Given the description of an element on the screen output the (x, y) to click on. 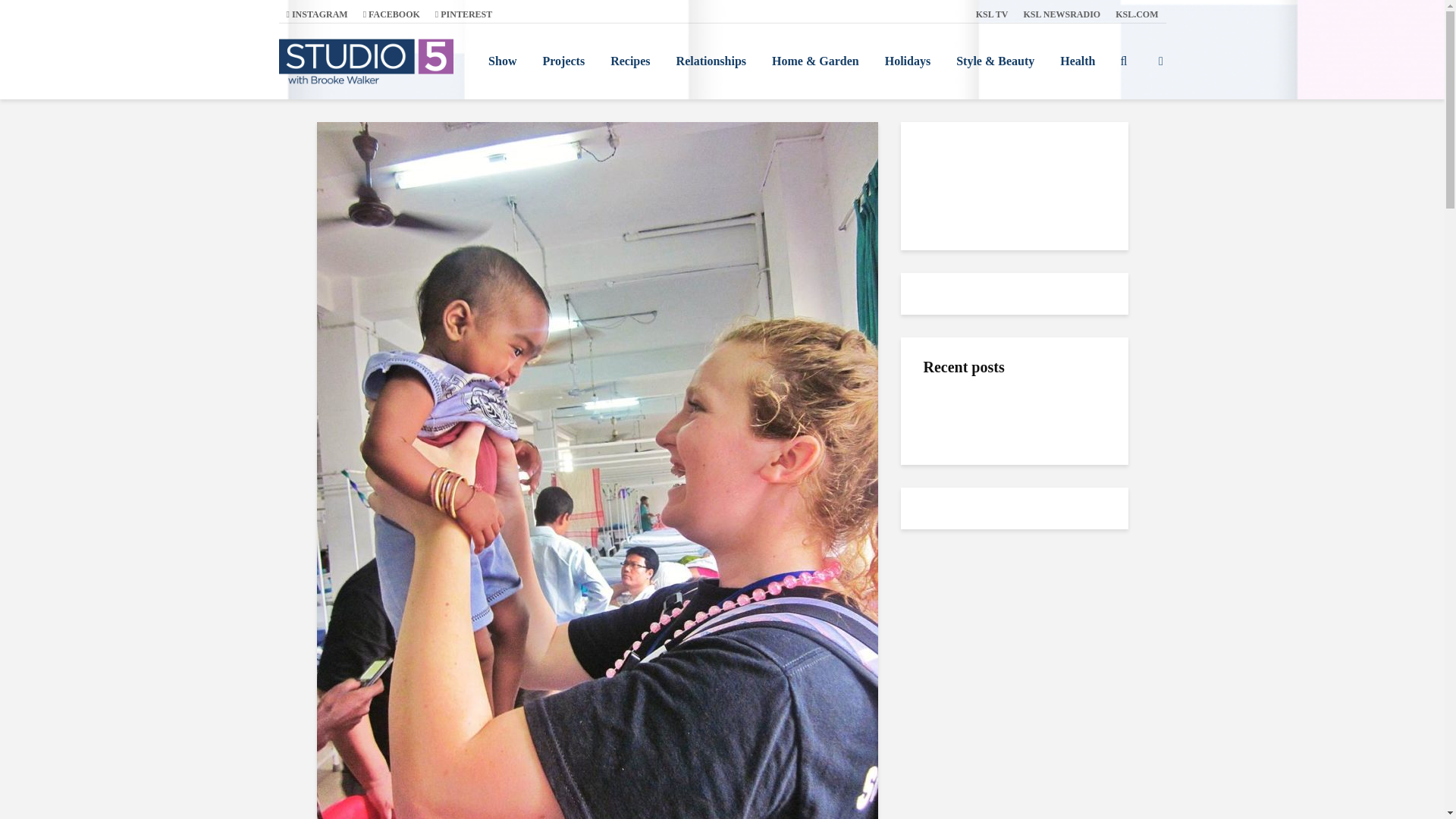
KSL TV (992, 14)
Projects (563, 60)
PINTEREST (463, 14)
KSL.COM (1137, 14)
Health (1077, 60)
KSL NEWSRADIO (1061, 14)
Show (502, 60)
Holidays (907, 60)
Recipes (629, 60)
FACEBOOK (391, 14)
